Given the description of an element on the screen output the (x, y) to click on. 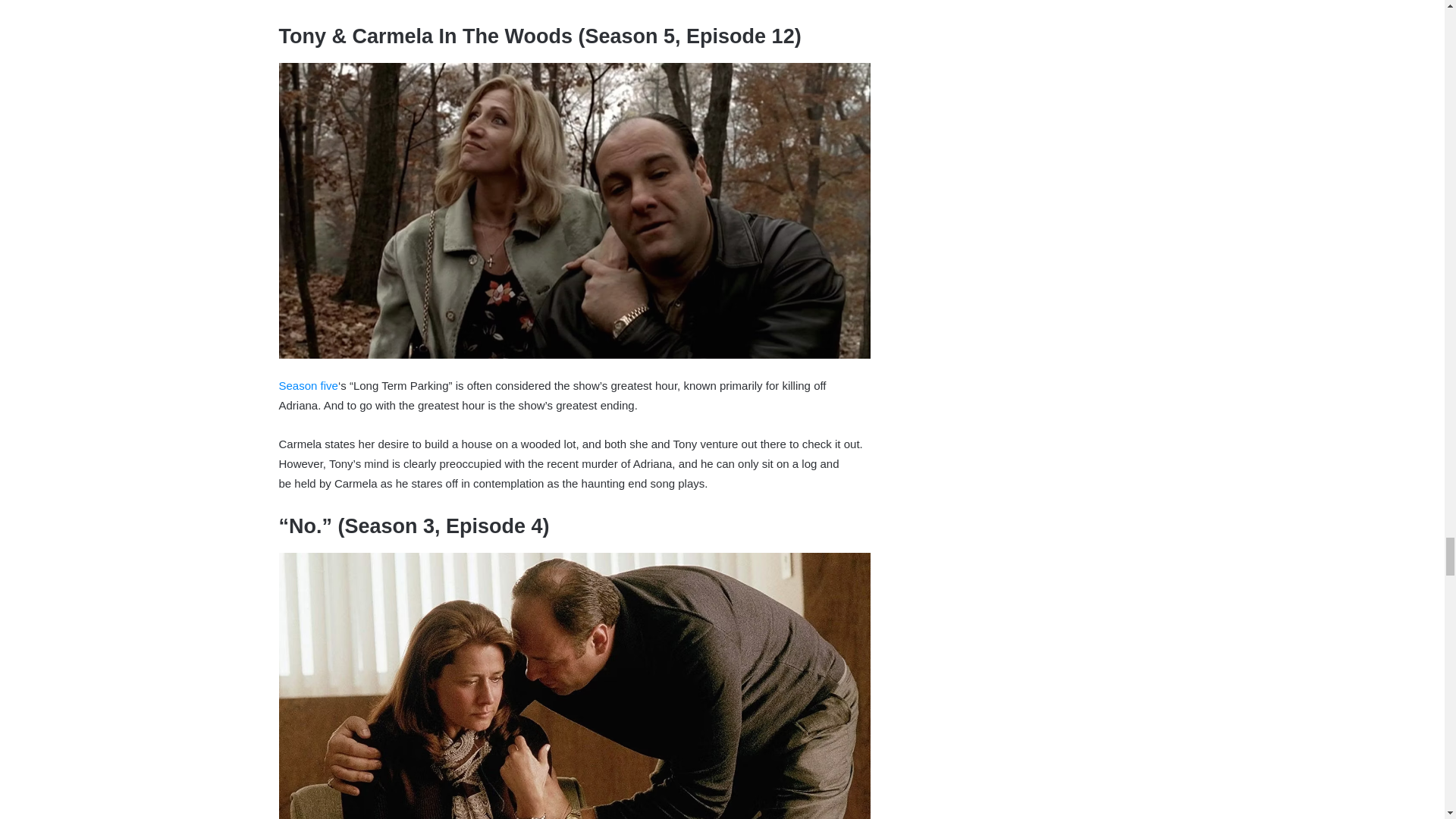
Season five (308, 385)
